Given the description of an element on the screen output the (x, y) to click on. 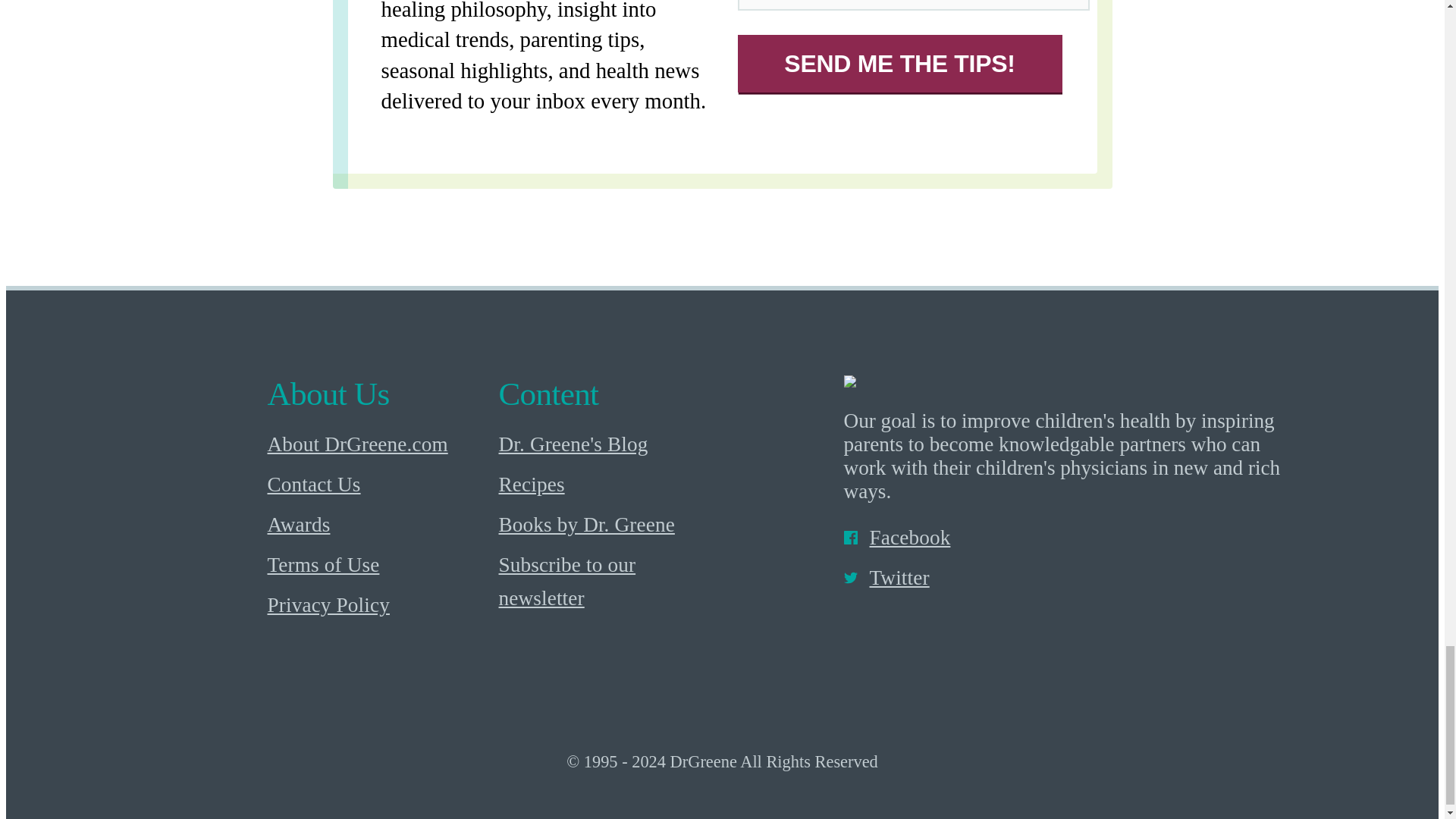
Recipes (610, 485)
Facebook (1066, 538)
Twitter (1066, 578)
Dr. Greene's Blog (610, 445)
Awards (378, 525)
Subscribe to our newsletter (610, 582)
SEND ME THE TIPS! (898, 63)
Contact Us (378, 485)
Books by Dr. Greene (610, 525)
About DrGreene.com (378, 445)
Privacy Policy (378, 606)
Terms of Use (378, 565)
